Given the description of an element on the screen output the (x, y) to click on. 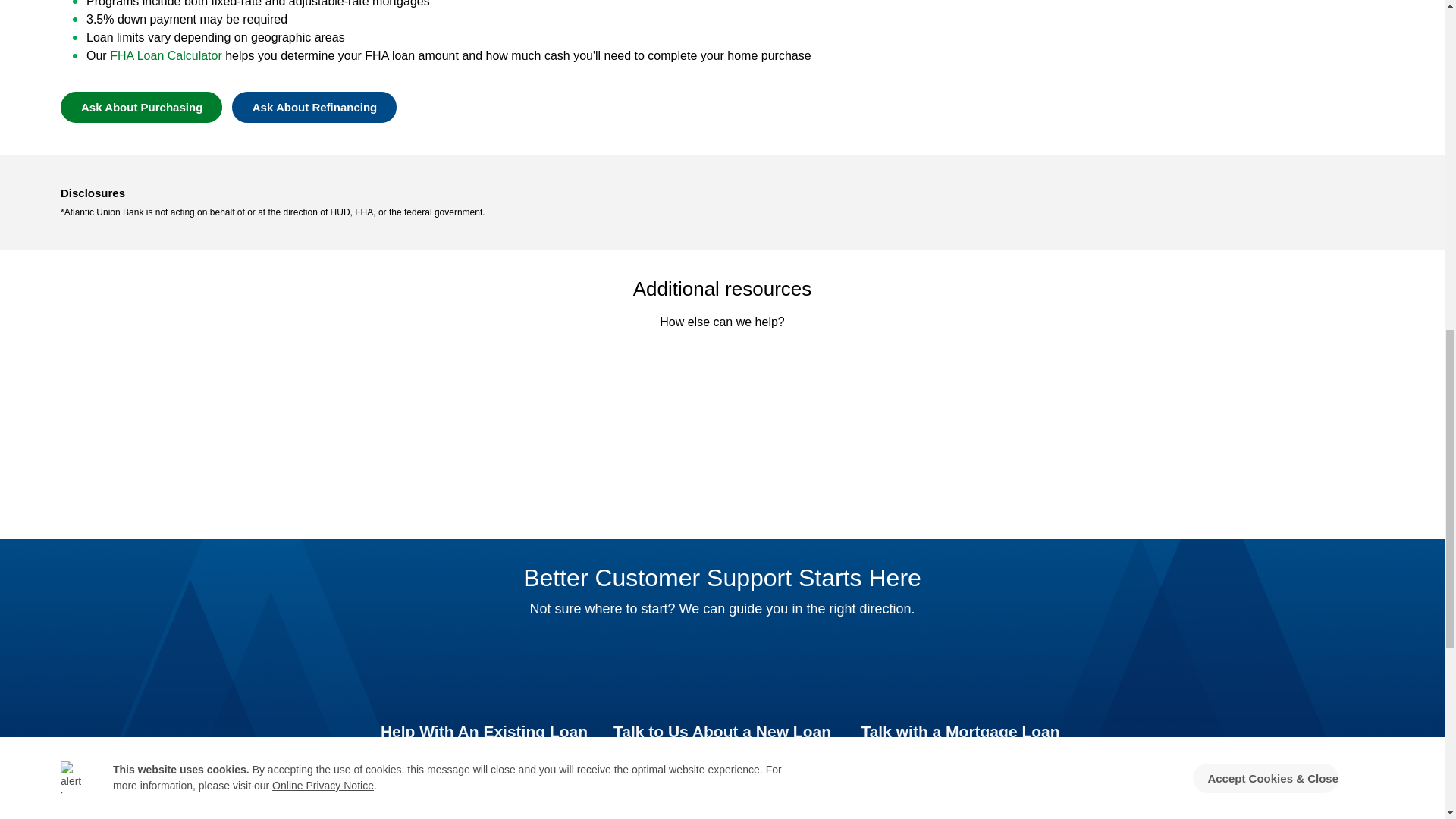
Schedule an Appointment (960, 770)
833-692-8245 (722, 753)
Ask About Refinancing (313, 106)
800-990-4828 (484, 753)
Model.Properties.PrimaryButtonTitle (141, 106)
